Given the description of an element on the screen output the (x, y) to click on. 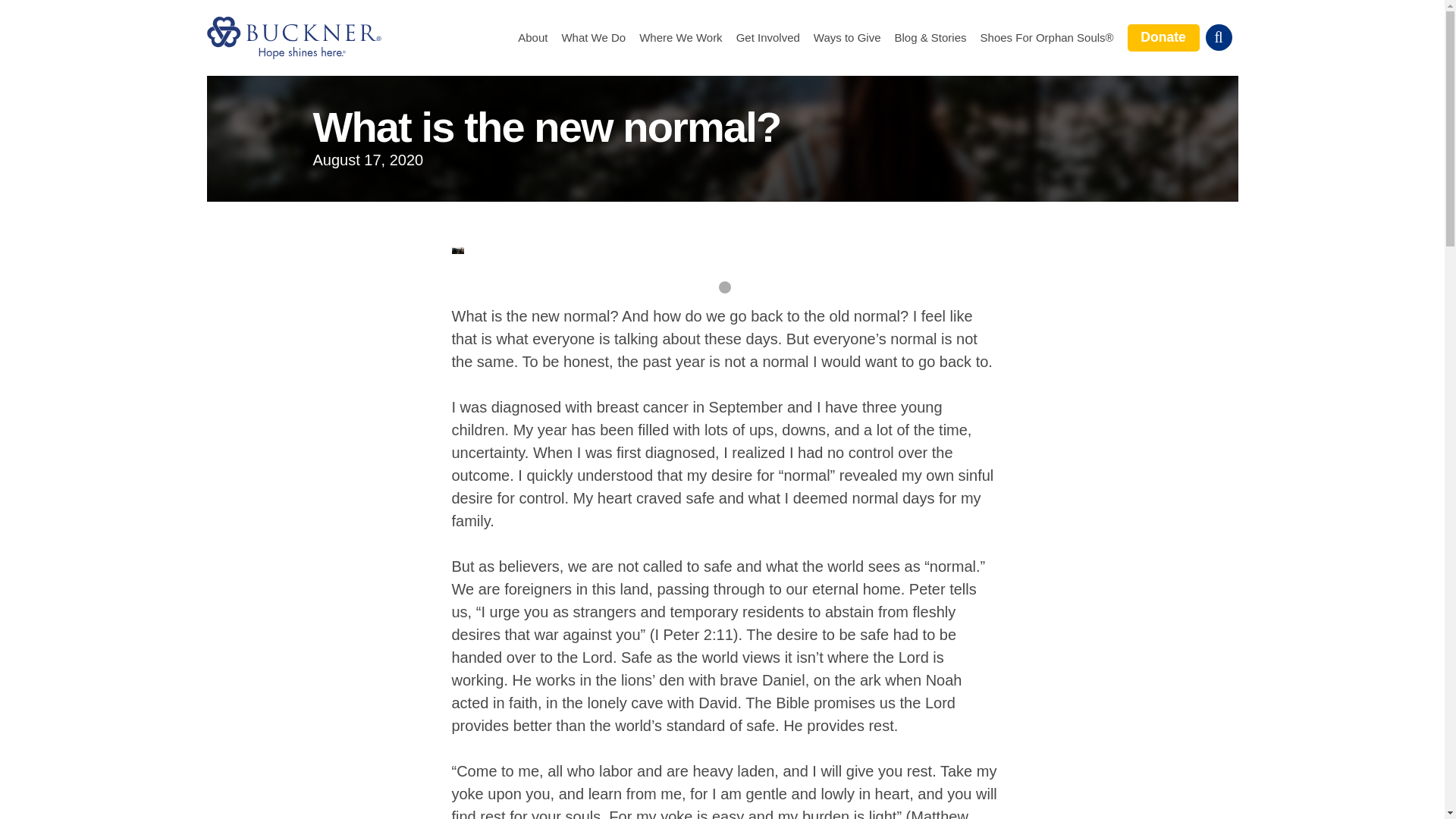
Ways to Give (846, 37)
Toggle Search (1218, 37)
Donate (1162, 37)
Where We Work (680, 37)
Buckner International  (293, 37)
Get Involved (767, 37)
